Given the description of an element on the screen output the (x, y) to click on. 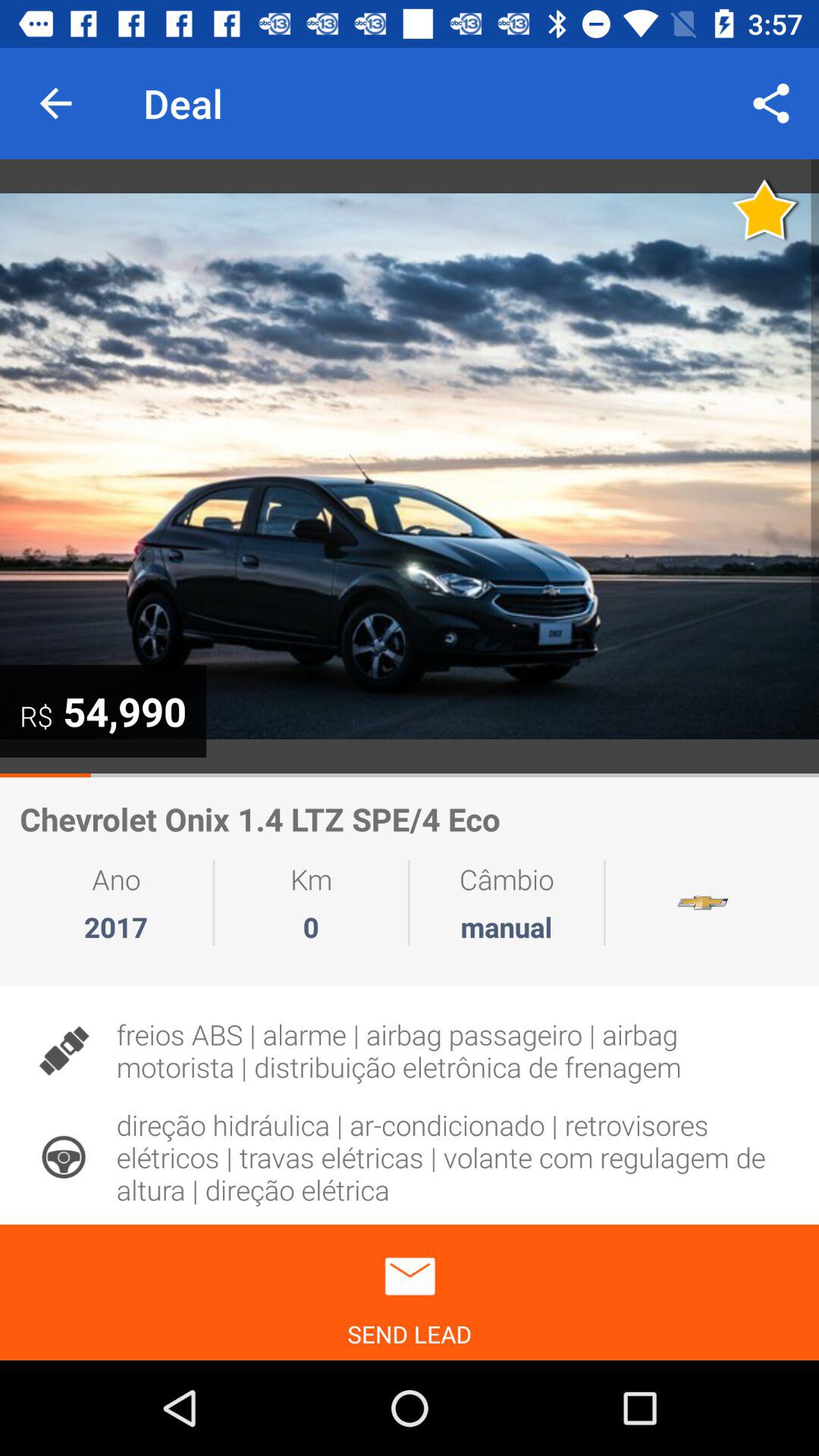
press to expand (409, 466)
